Given the description of an element on the screen output the (x, y) to click on. 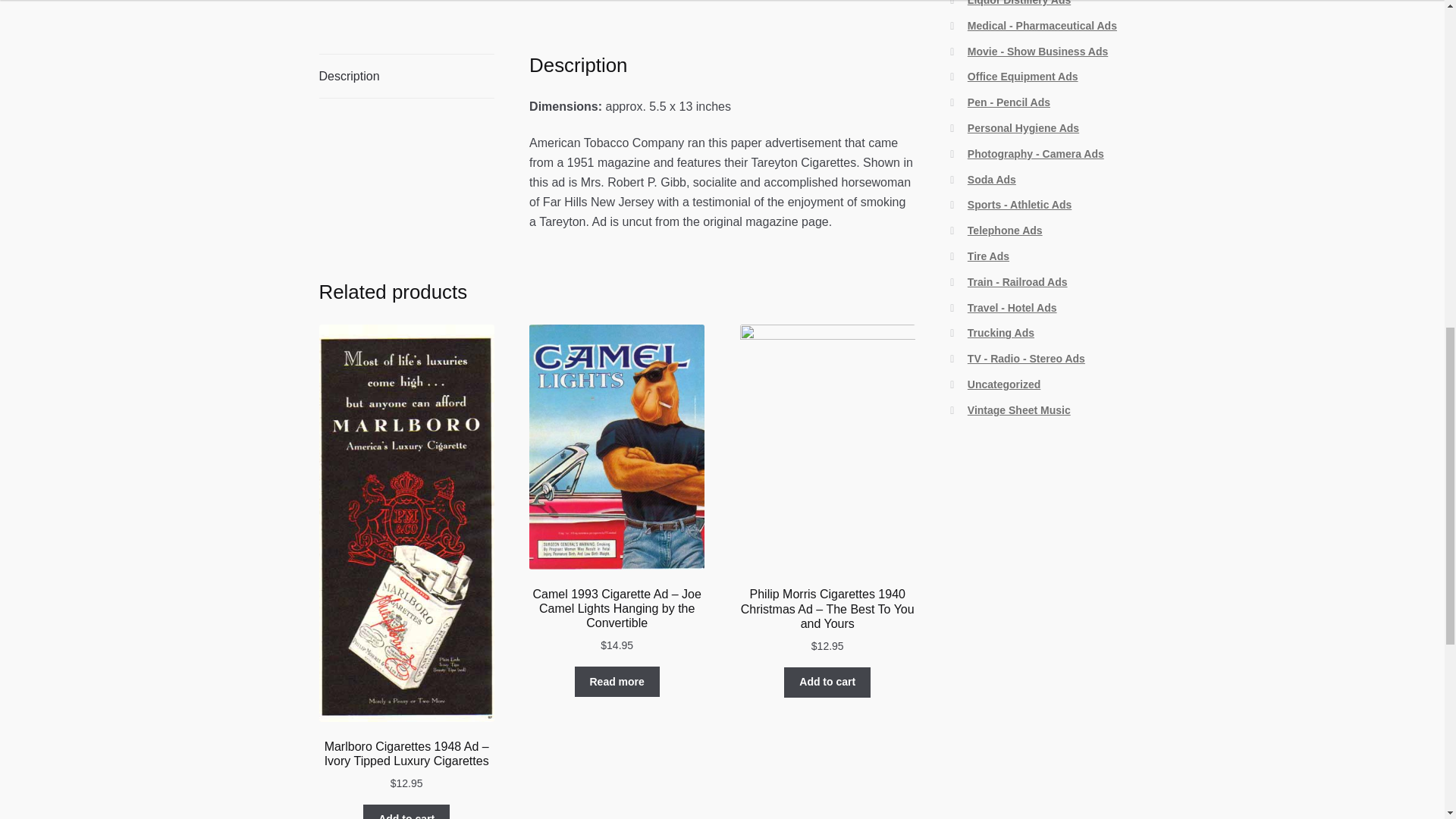
Description (406, 76)
Add to cart (827, 682)
Read more (617, 681)
Add to cart (405, 811)
